Given the description of an element on the screen output the (x, y) to click on. 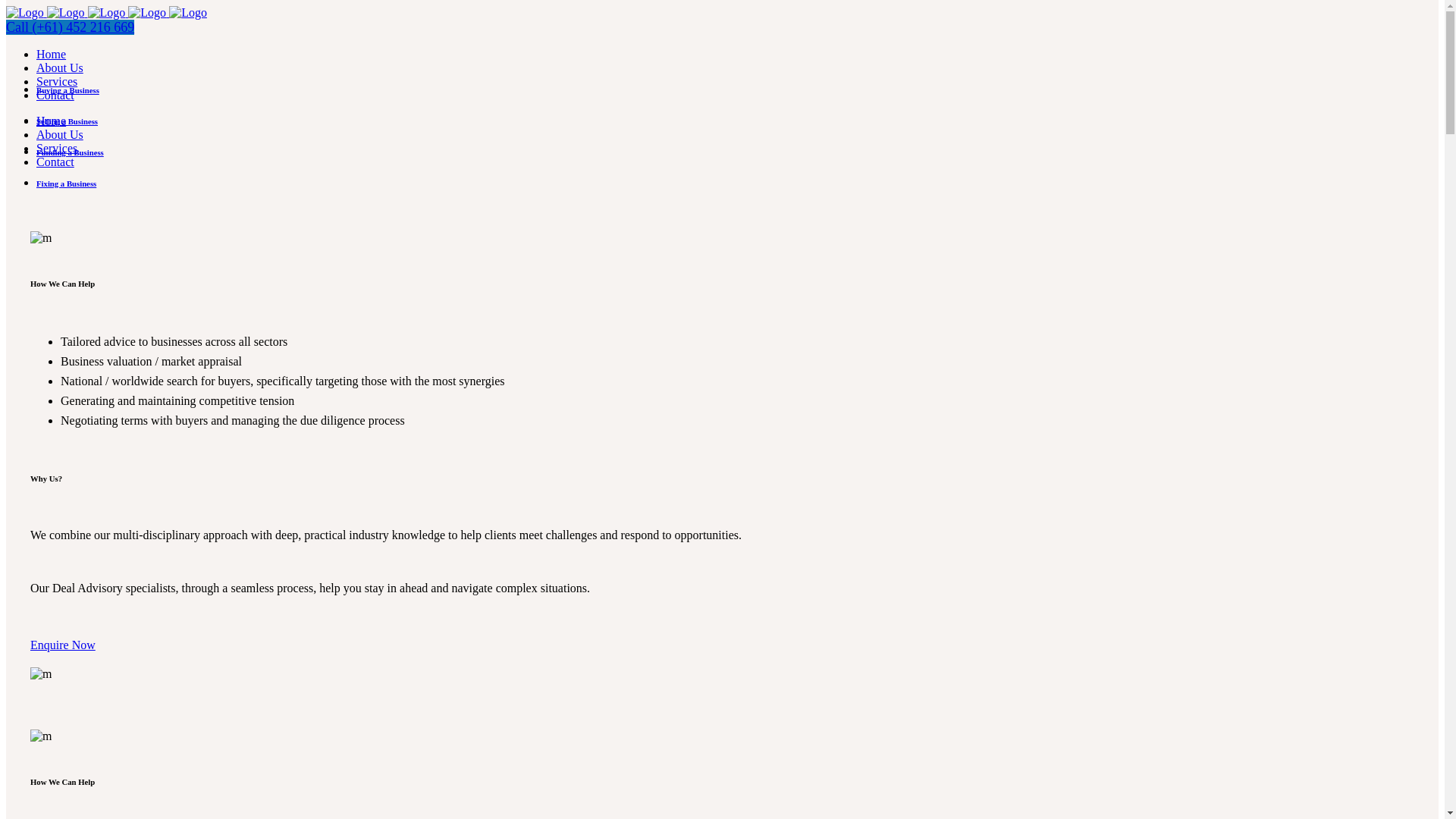
Contact Element type: text (55, 94)
About Us Element type: text (59, 134)
Selling a Business Element type: text (66, 120)
Services Element type: text (56, 81)
About Us Element type: text (59, 67)
Funding a Business Element type: text (69, 151)
Contact Element type: text (55, 161)
Fixing a Business Element type: text (66, 183)
Services Element type: text (56, 147)
Home Element type: text (50, 53)
Home Element type: text (50, 120)
Enquire Now Element type: text (62, 644)
Buying a Business Element type: text (67, 89)
Call (+61) 452 216 669 Element type: text (70, 26)
